Given the description of an element on the screen output the (x, y) to click on. 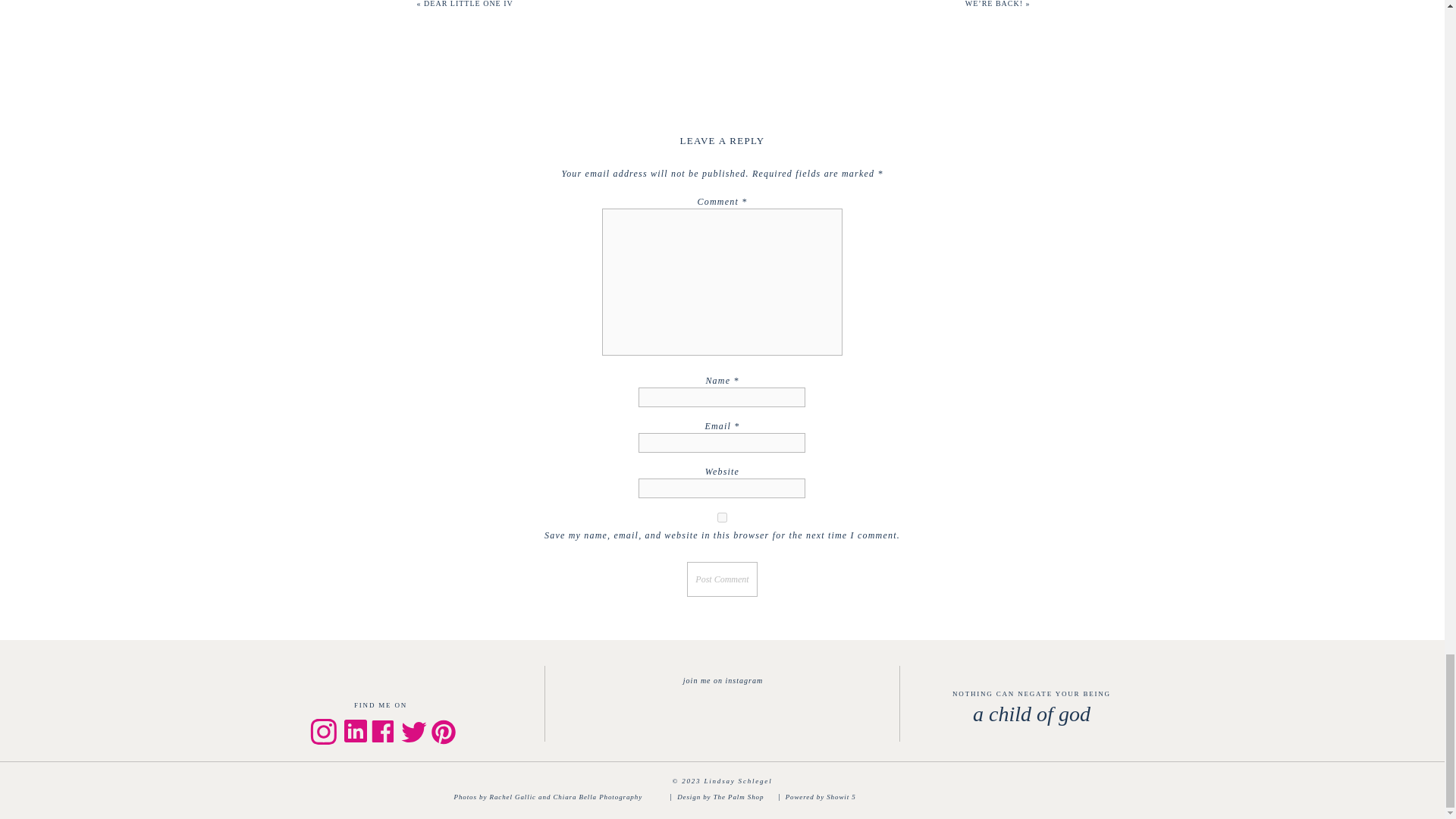
Facebook Copy-color Created with Sketch. (381, 731)
DEAR LITTLE ONE IV (468, 3)
Instagram-color Created with Sketch. (322, 731)
Photos by Rachel Gallic and Chiara Bella Photography (558, 797)
yes (721, 517)
Post Comment (722, 579)
Post Comment (722, 579)
